Given the description of an element on the screen output the (x, y) to click on. 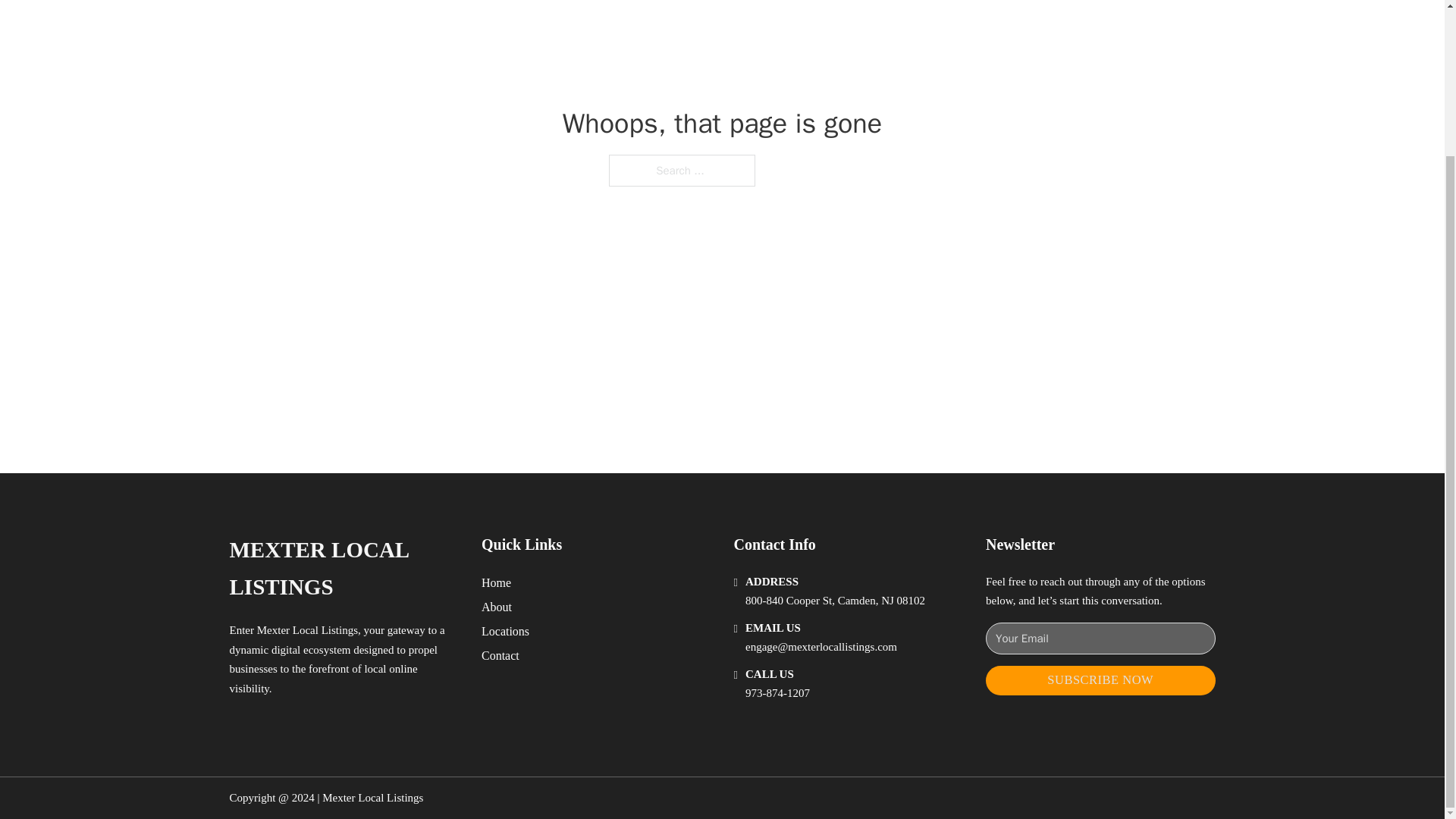
Home (496, 582)
Locations (505, 630)
SUBSCRIBE NOW (1100, 680)
About (496, 607)
Contact (500, 655)
973-874-1207 (777, 693)
MEXTER LOCAL LISTINGS (343, 568)
